Given the description of an element on the screen output the (x, y) to click on. 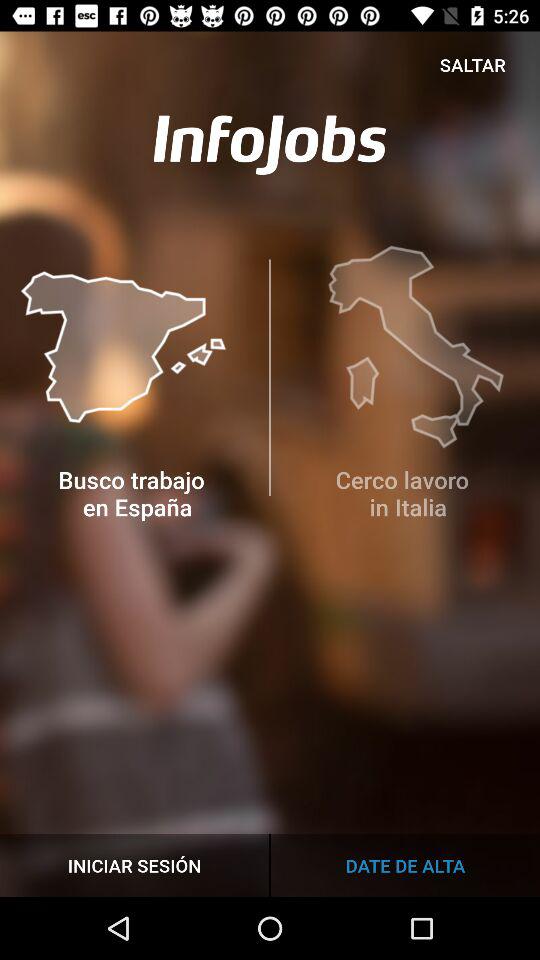
swipe until the date de alta item (405, 864)
